Given the description of an element on the screen output the (x, y) to click on. 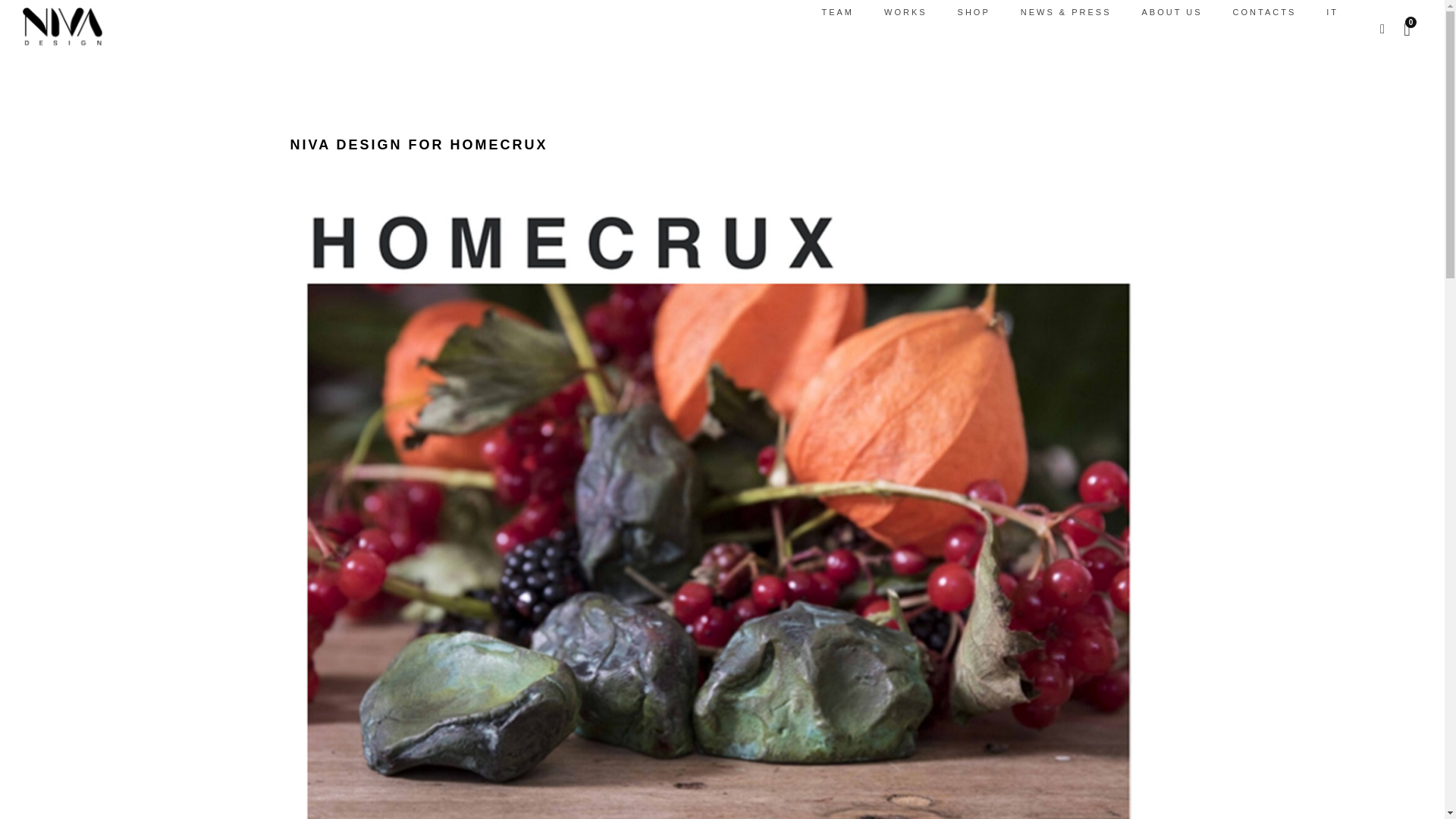
SHOP (974, 12)
TEAM (837, 12)
WORKS (905, 12)
Search (21, 15)
